Given the description of an element on the screen output the (x, y) to click on. 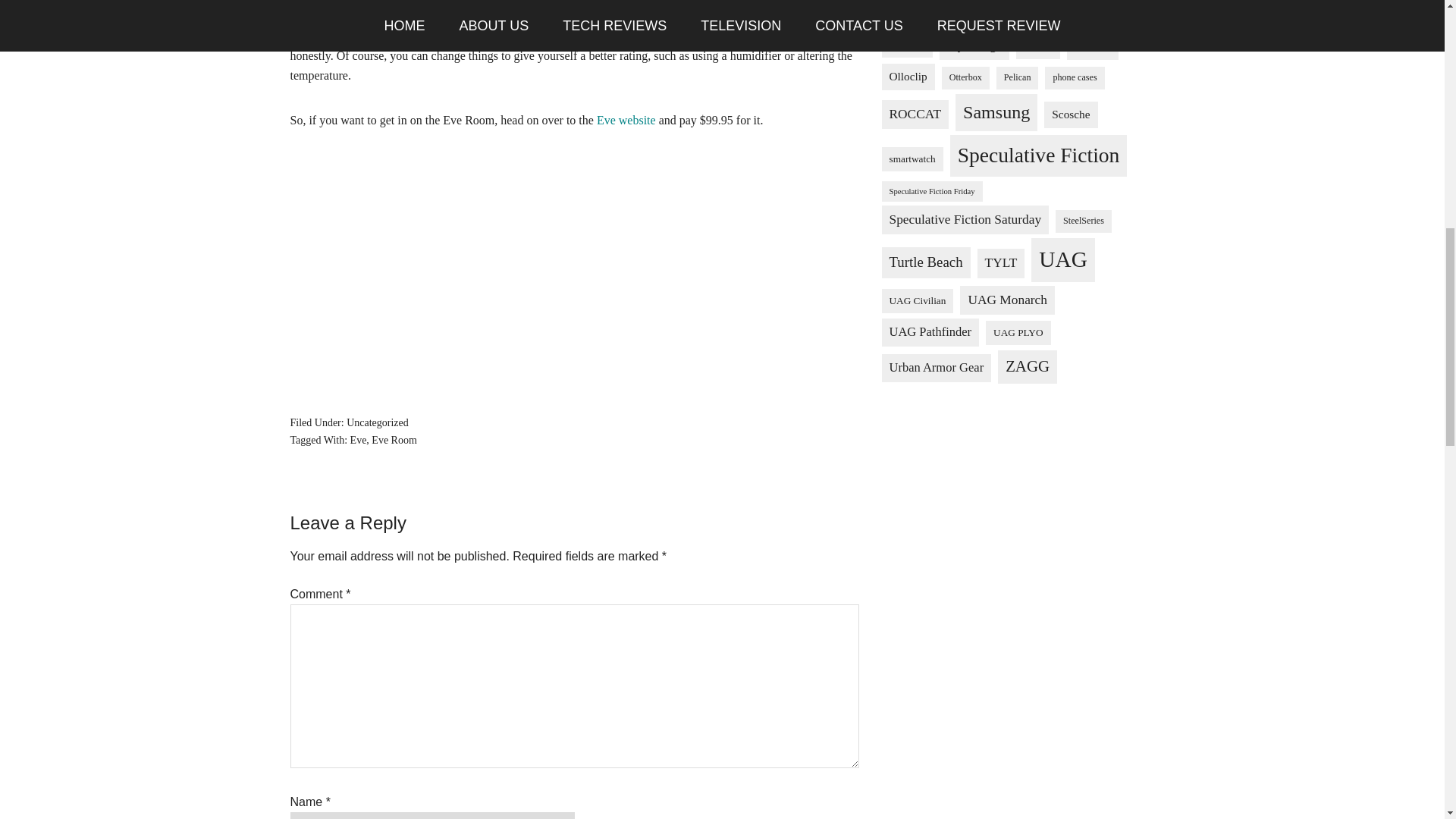
Uncategorized (377, 422)
Eve (358, 439)
Eve website (626, 119)
YouTube video player (574, 269)
Eve Room (393, 439)
Advertisement (1017, 500)
